Given the description of an element on the screen output the (x, y) to click on. 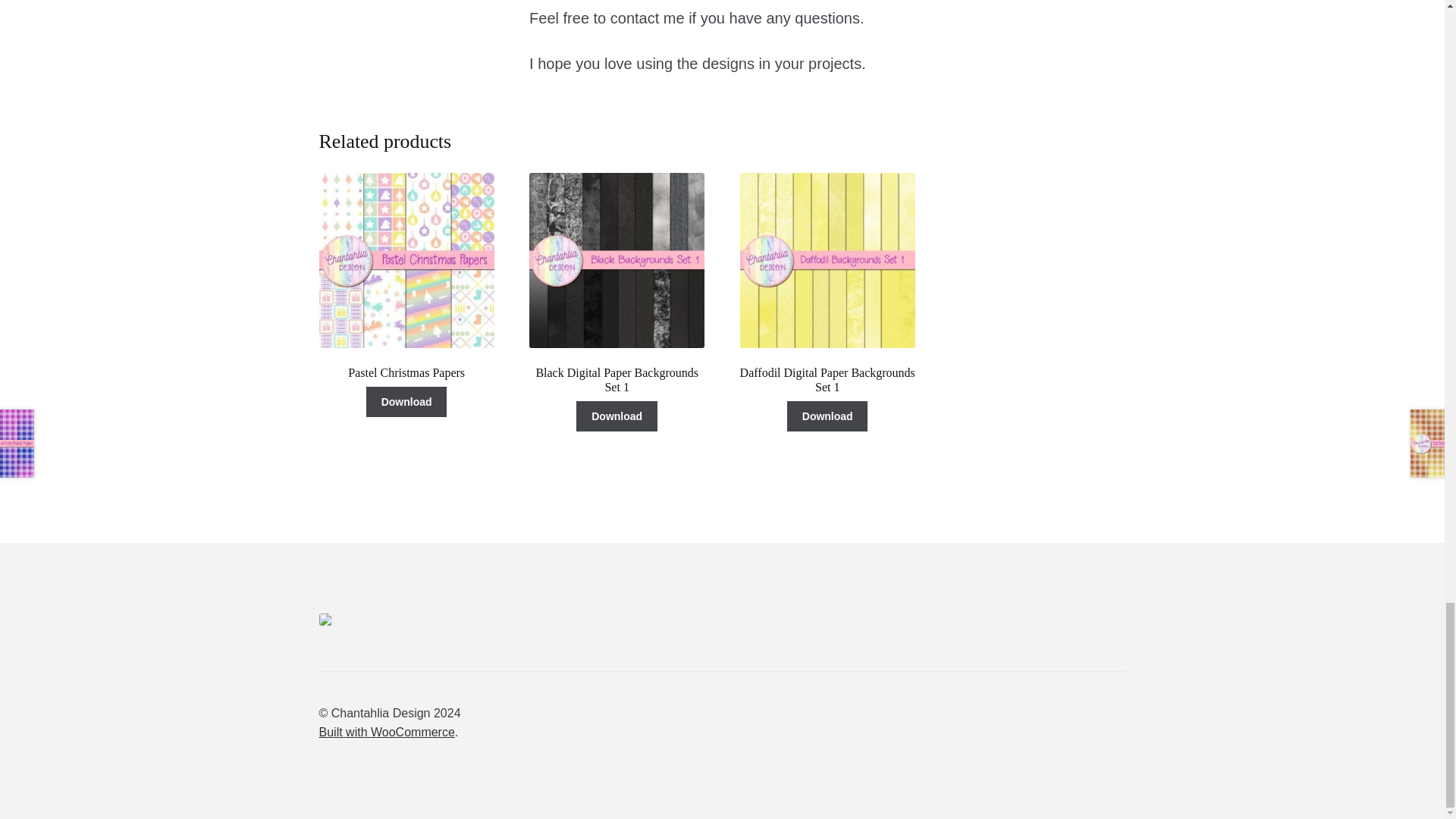
Download (617, 416)
WooCommerce - The Best eCommerce Platform for WordPress (386, 731)
Download (406, 401)
